Given the description of an element on the screen output the (x, y) to click on. 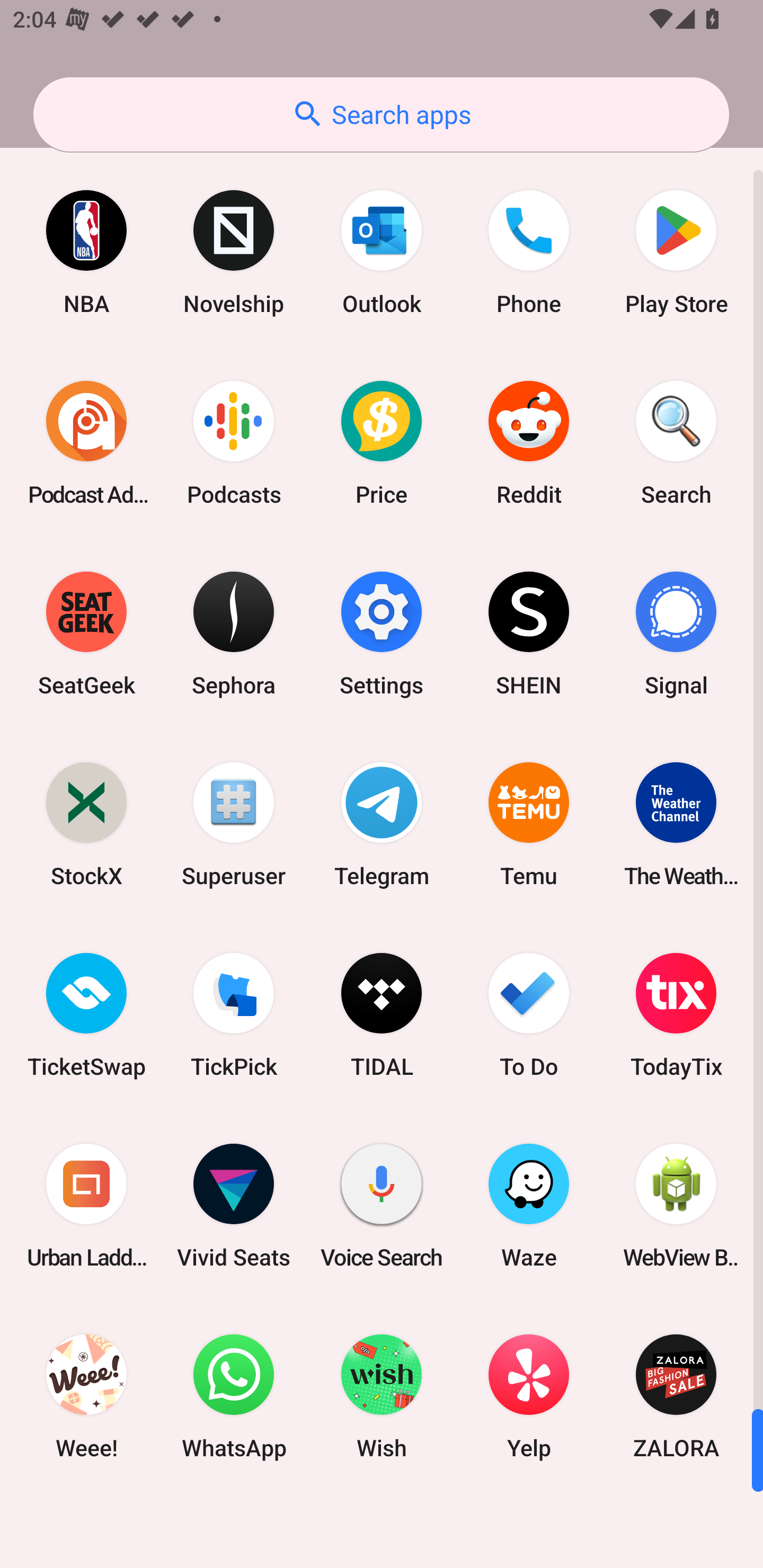
Signal (676, 633)
